Given the description of an element on the screen output the (x, y) to click on. 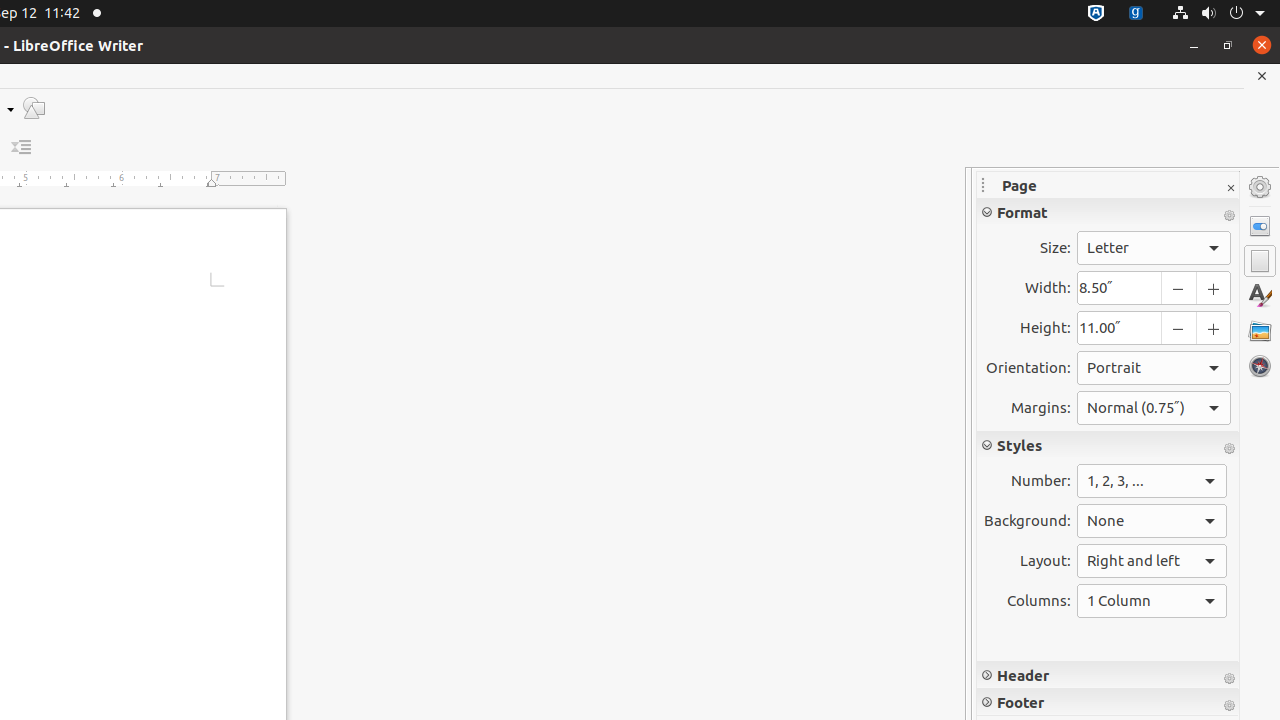
Styles Element type: radio-button (1260, 296)
Orientation: Element type: combo-box (1154, 368)
Page Element type: radio-button (1260, 261)
org.kde.StatusNotifierItem-14077-1 Element type: menu (1136, 13)
Number: Element type: combo-box (1152, 481)
